Given the description of an element on the screen output the (x, y) to click on. 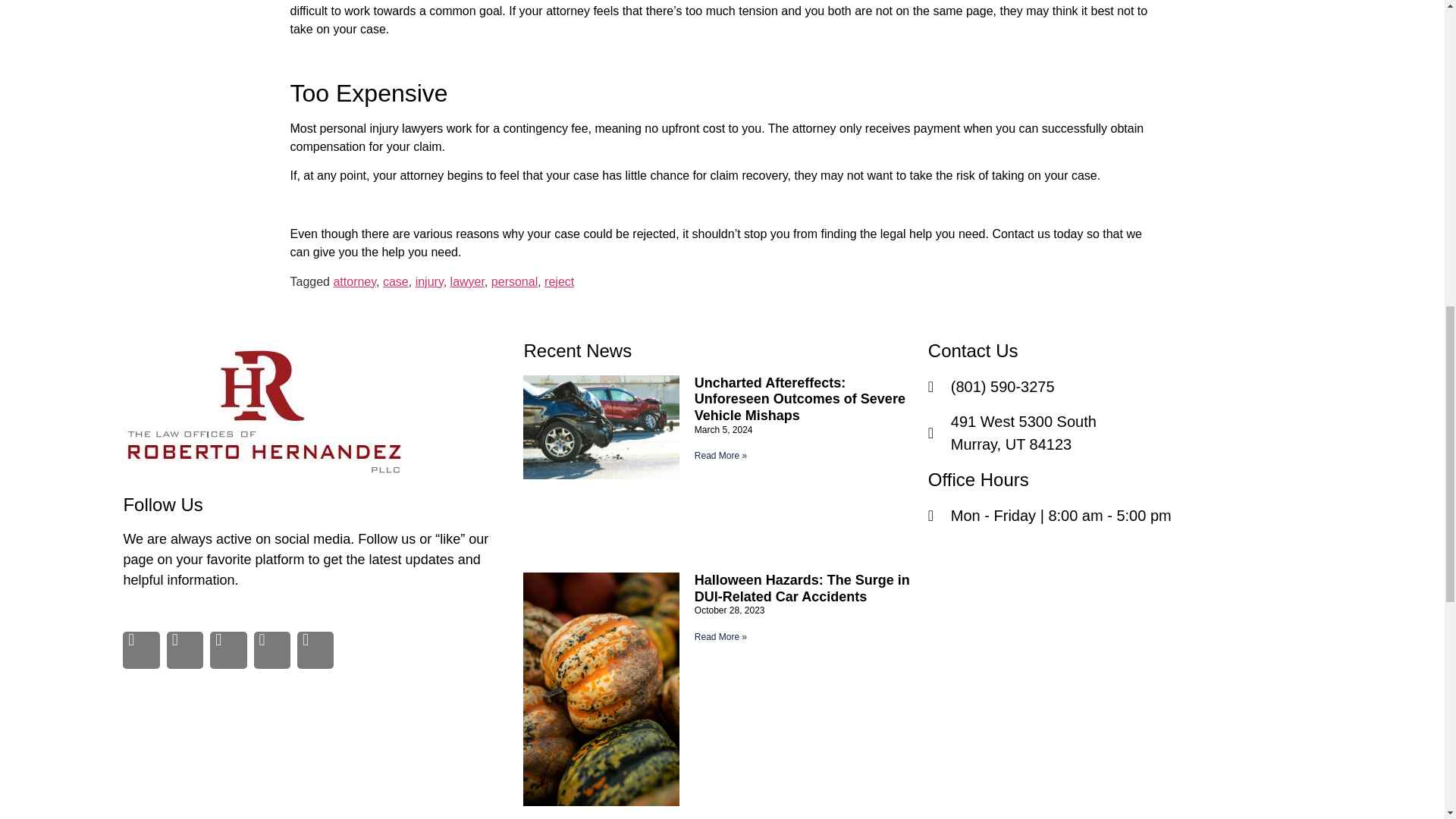
personal (514, 281)
case (395, 281)
attorney (354, 281)
injury (429, 281)
reject (558, 281)
lawyer (466, 281)
